Given the description of an element on the screen output the (x, y) to click on. 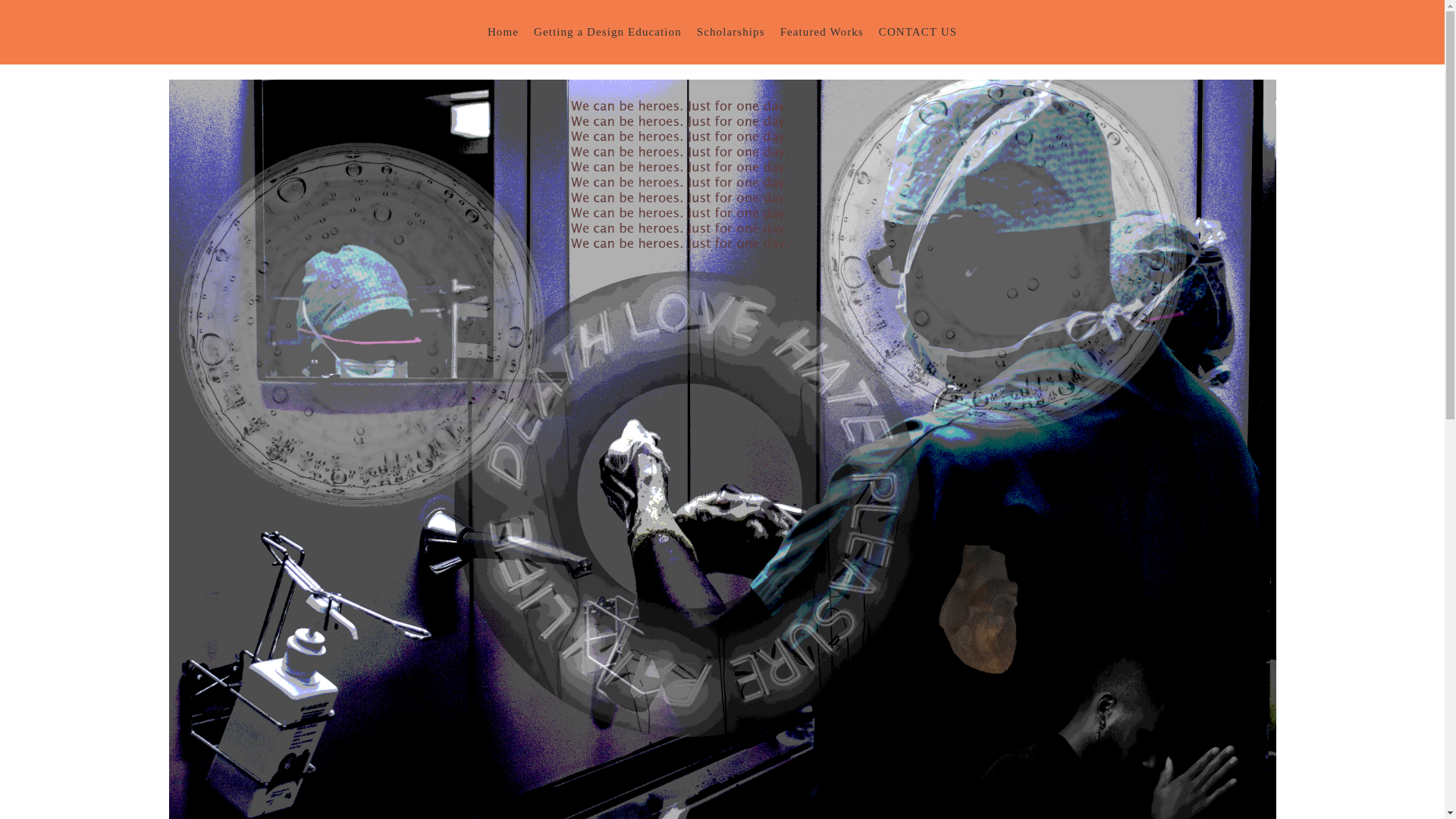
Getting a Design Education (607, 31)
Scholarships (731, 31)
CONTACT US (917, 31)
Home (502, 31)
Featured Works (821, 31)
